Given the description of an element on the screen output the (x, y) to click on. 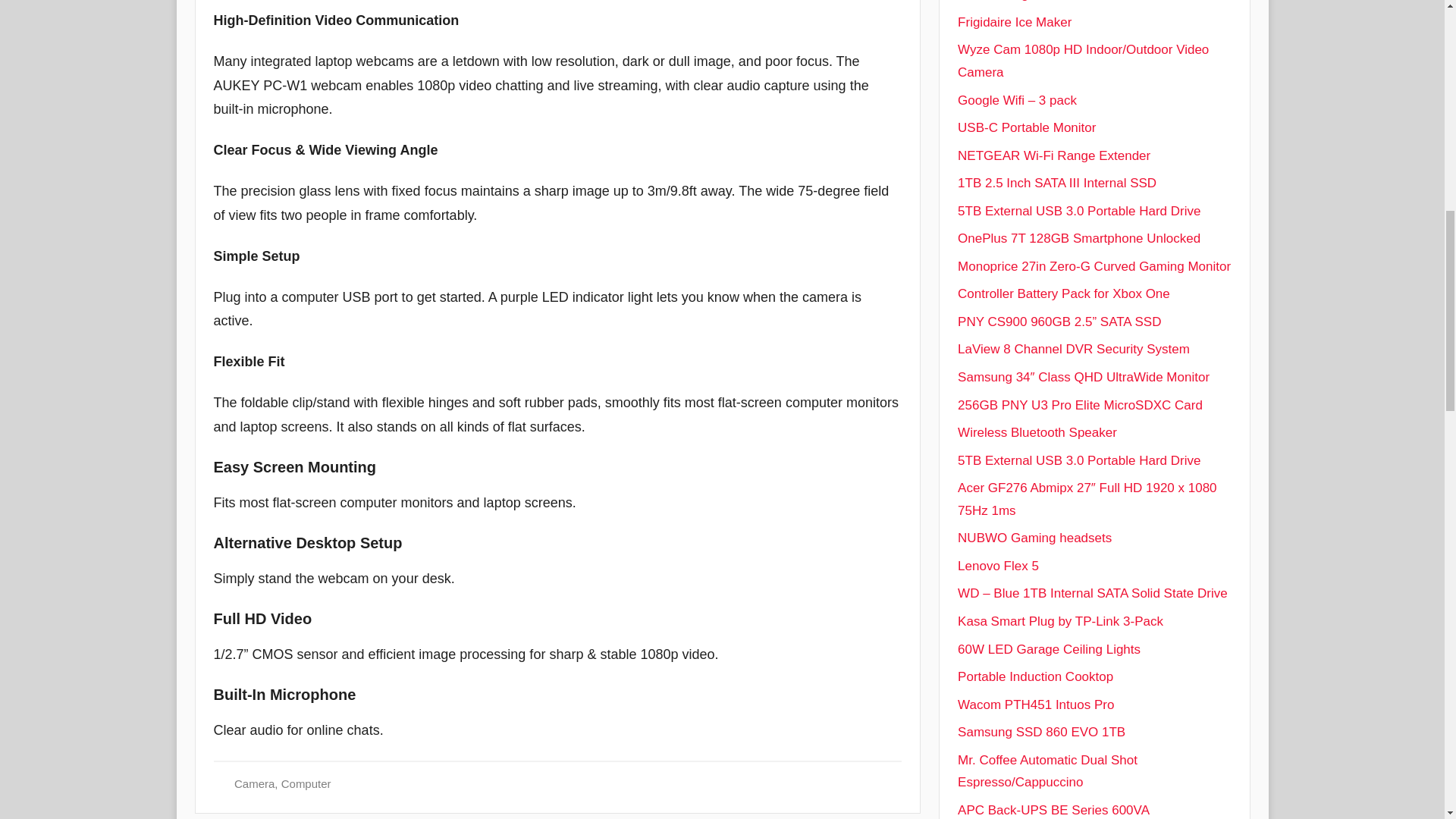
Camera (254, 783)
Computer (306, 783)
